Given the description of an element on the screen output the (x, y) to click on. 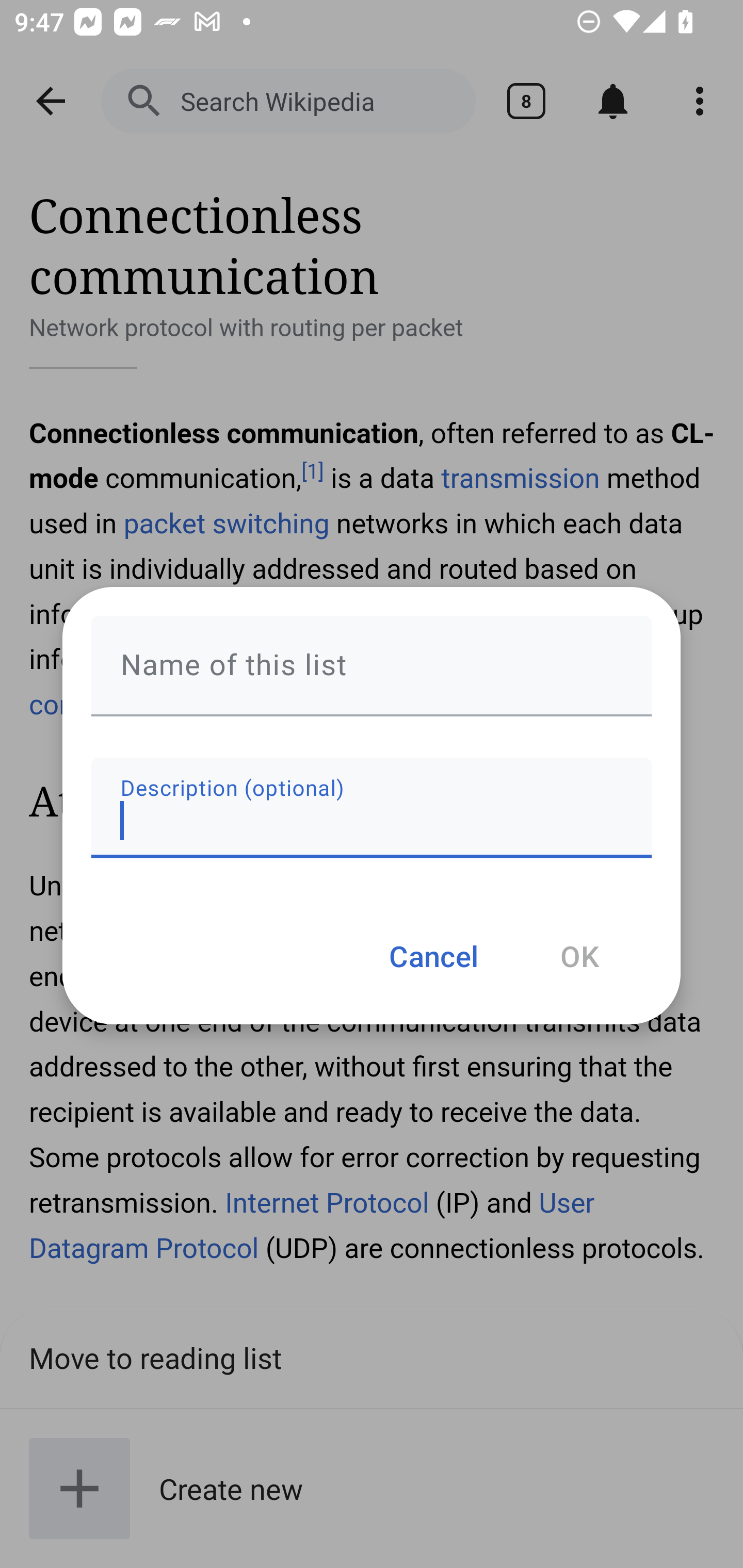
Name of this list (371, 666)
Description (optional) (371, 807)
Cancel (433, 955)
OK (579, 955)
